Given the description of an element on the screen output the (x, y) to click on. 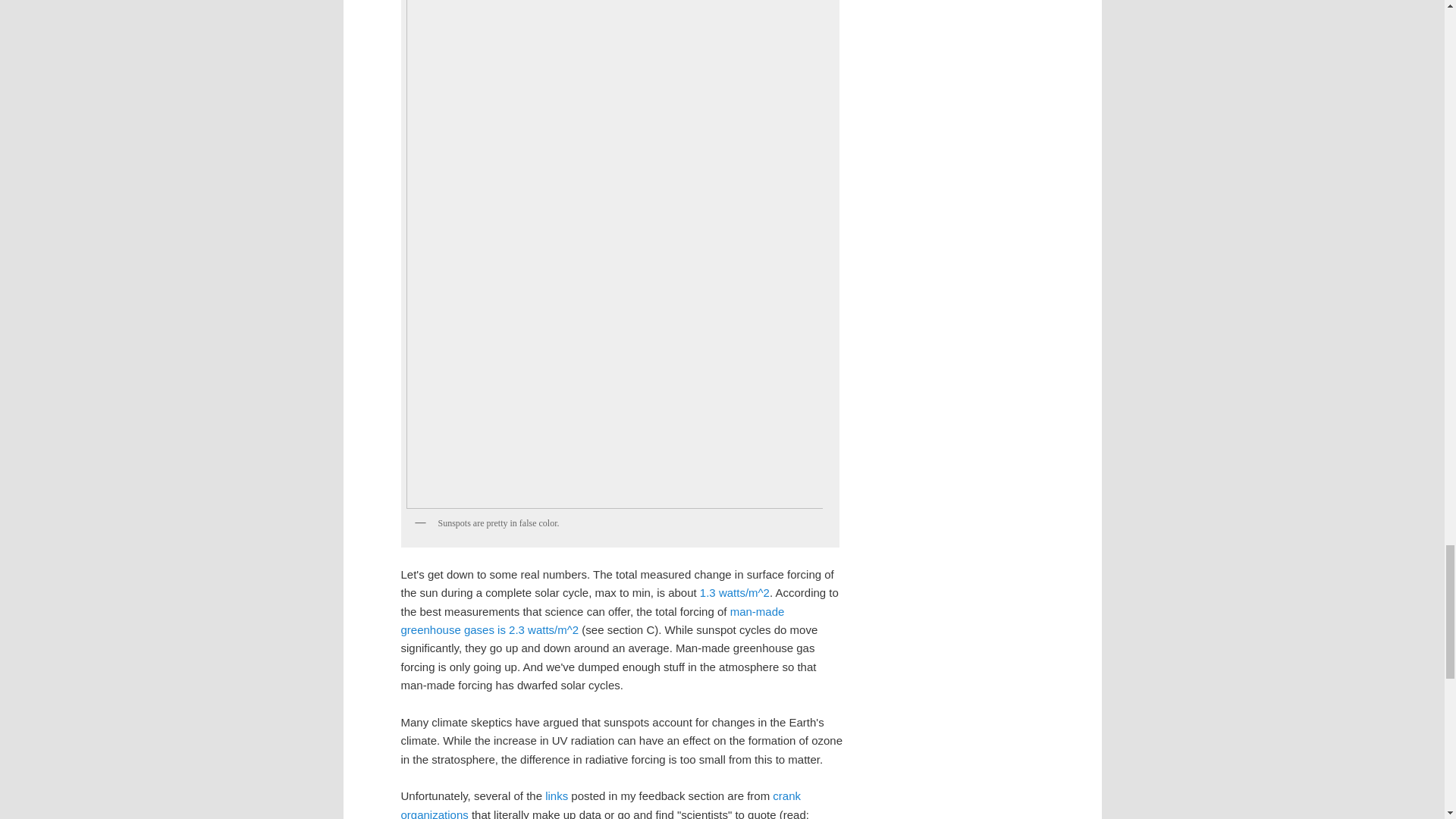
crank organizations (600, 804)
 links (554, 795)
